Given the description of an element on the screen output the (x, y) to click on. 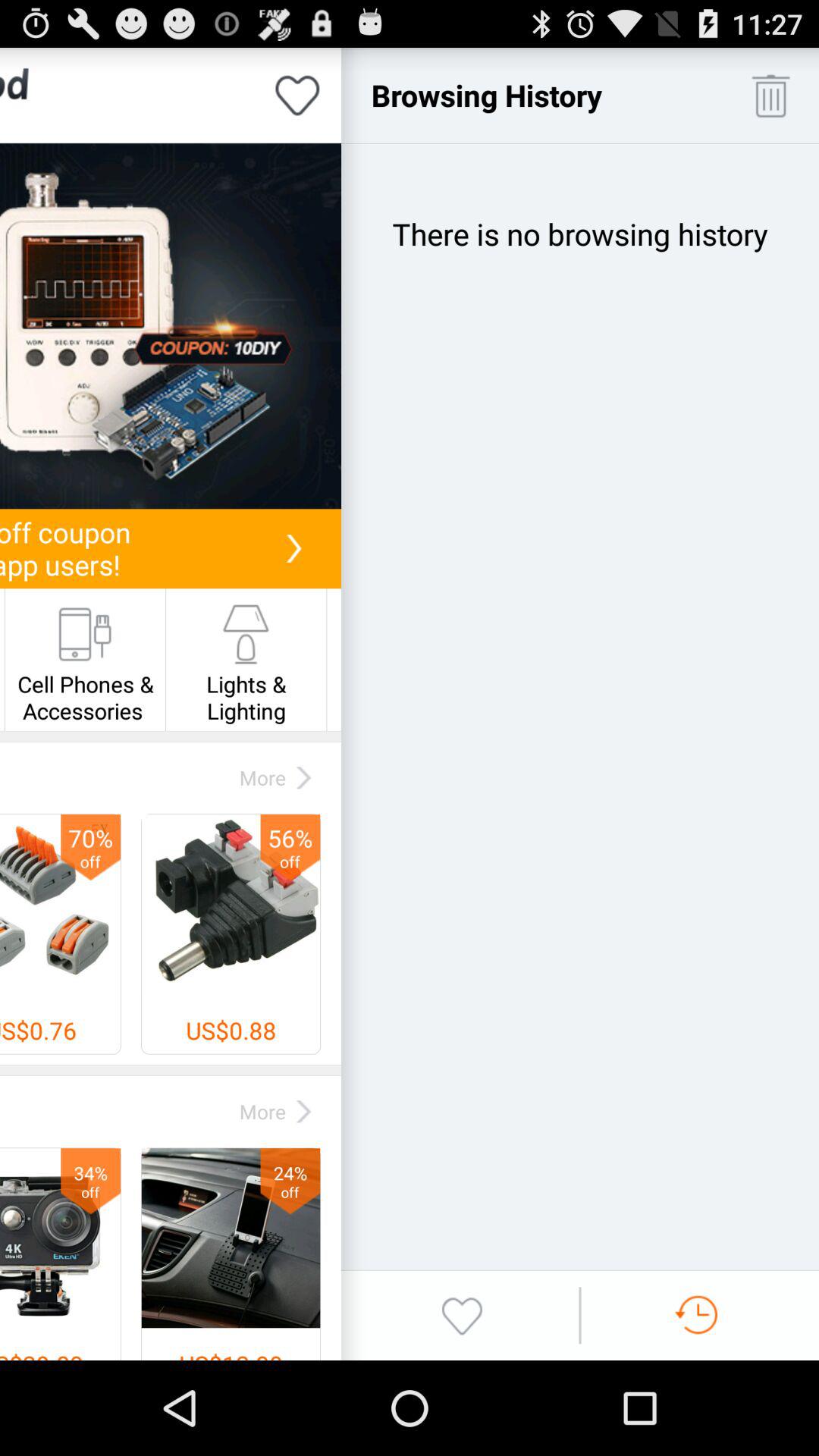
delete the current page (770, 95)
